Given the description of an element on the screen output the (x, y) to click on. 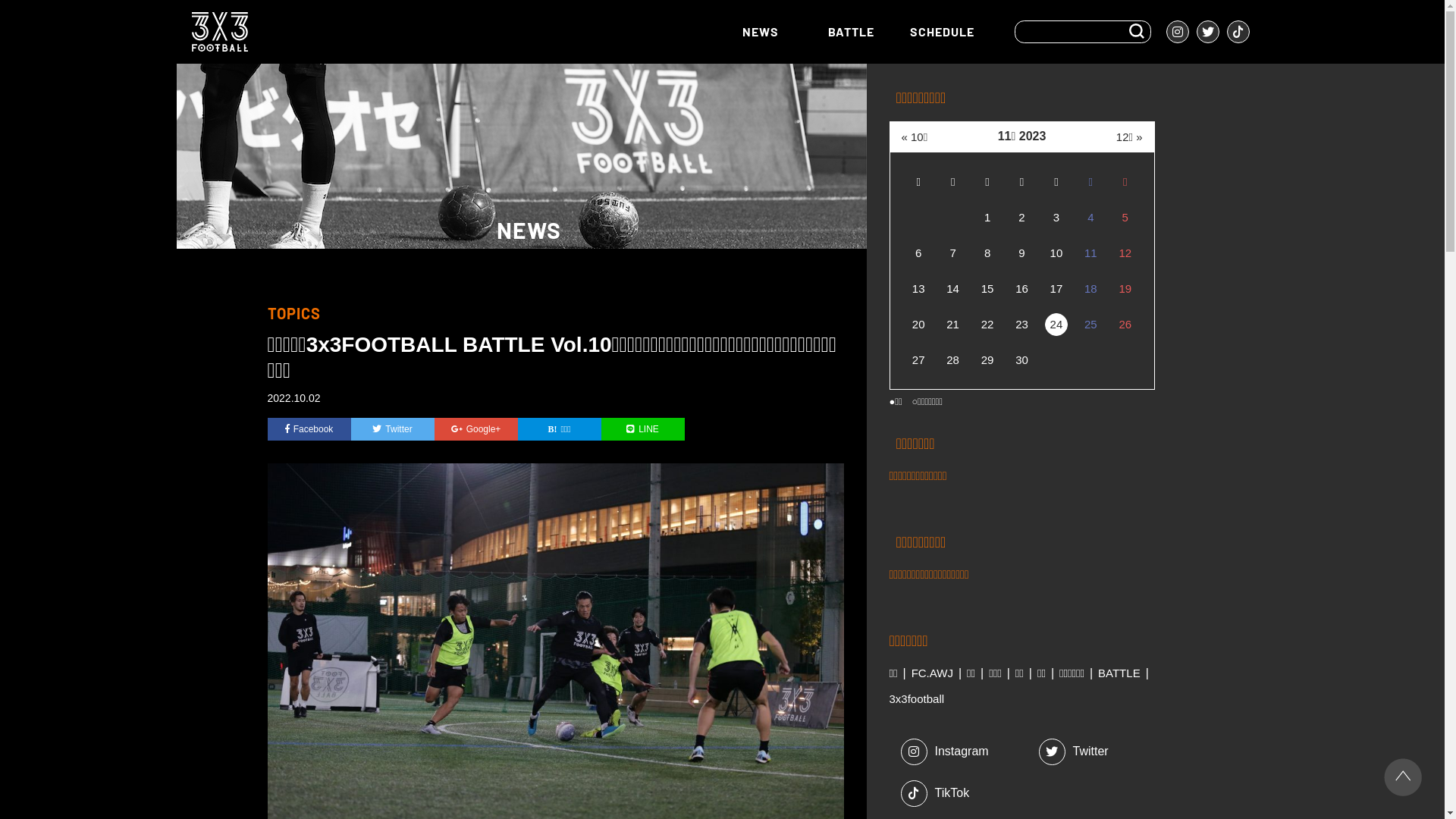
TOPICS Element type: text (293, 313)
Twitter Element type: text (1102, 751)
Facebook Element type: text (308, 428)
TikTok Element type: text (964, 793)
FC.AWJ Element type: text (932, 673)
LINE Element type: text (642, 428)
NEWS Element type: text (759, 31)
SCHEDULE Element type: text (941, 31)
BATTLE Element type: text (1119, 673)
BATTLE Element type: text (850, 31)
Google+ Element type: text (475, 428)
Twitter Element type: text (391, 428)
3x3football Element type: text (916, 699)
Instagram Element type: text (964, 751)
